Given the description of an element on the screen output the (x, y) to click on. 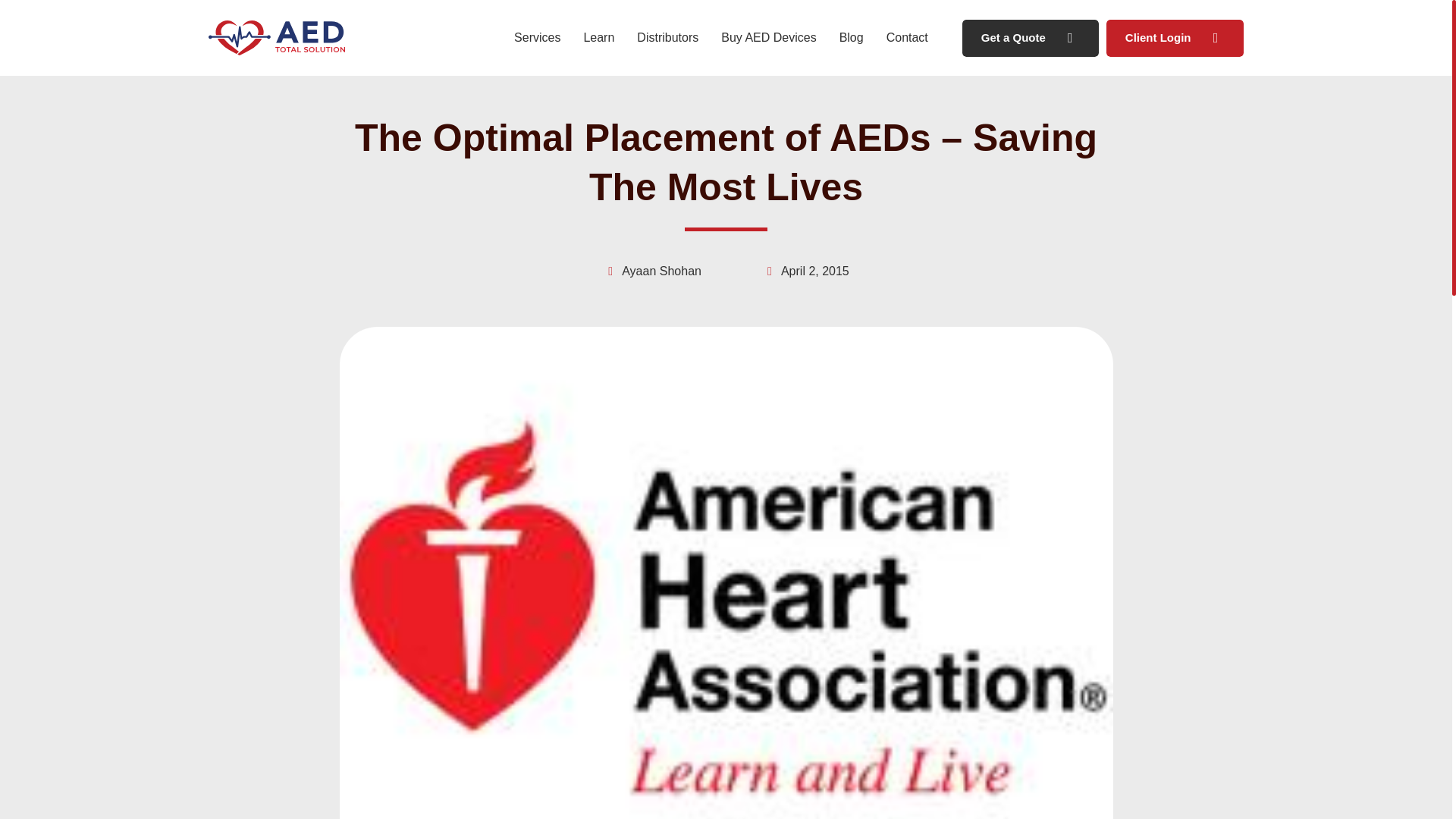
Client Login (1175, 37)
Blog (851, 37)
Get a Quote (1030, 37)
Buy AED Devices (768, 37)
Learn (599, 37)
Distributors (668, 37)
Services (537, 37)
Contact (907, 37)
